Given the description of an element on the screen output the (x, y) to click on. 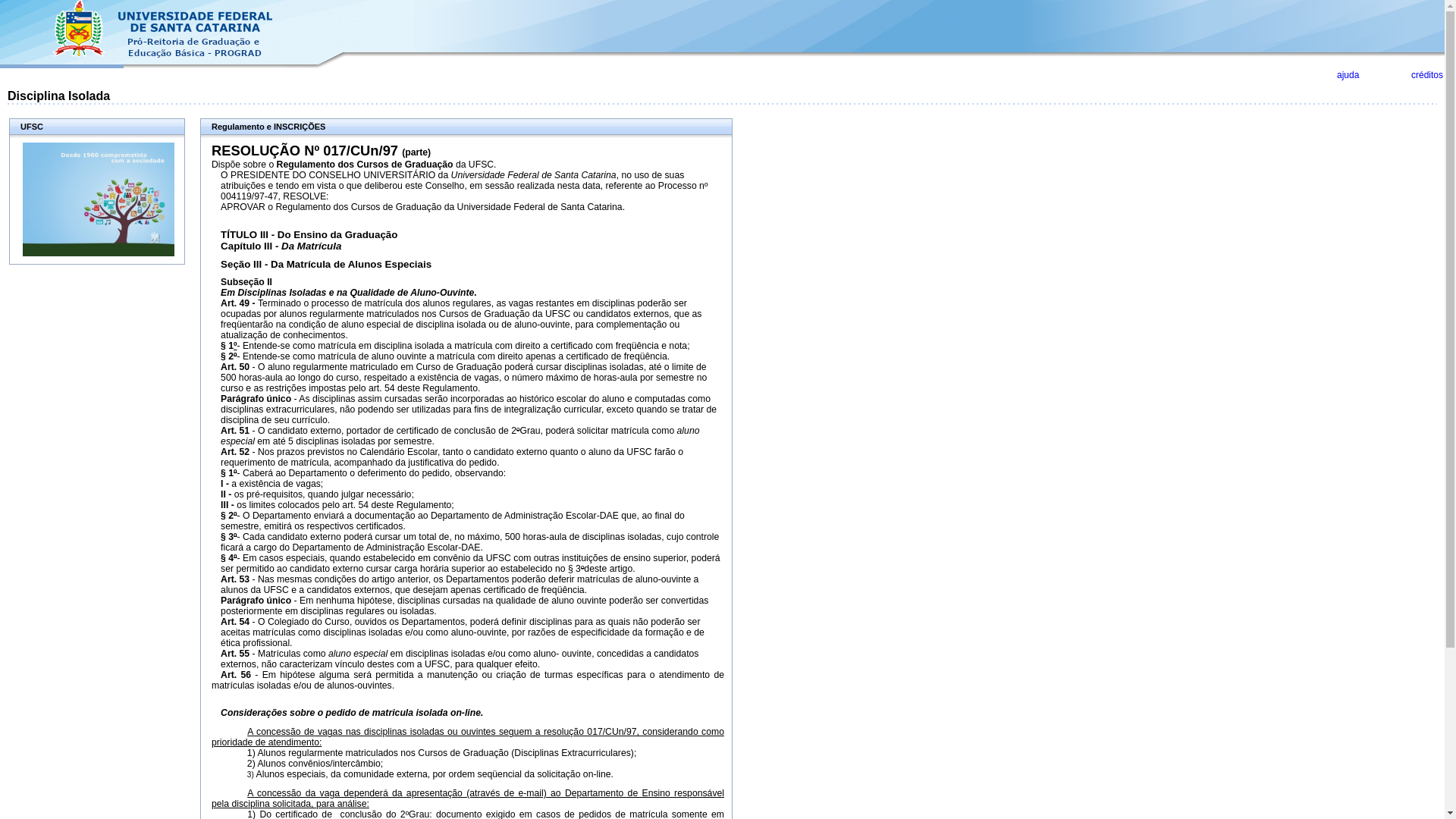
ajuda Element type: text (1347, 74)
